Given the description of an element on the screen output the (x, y) to click on. 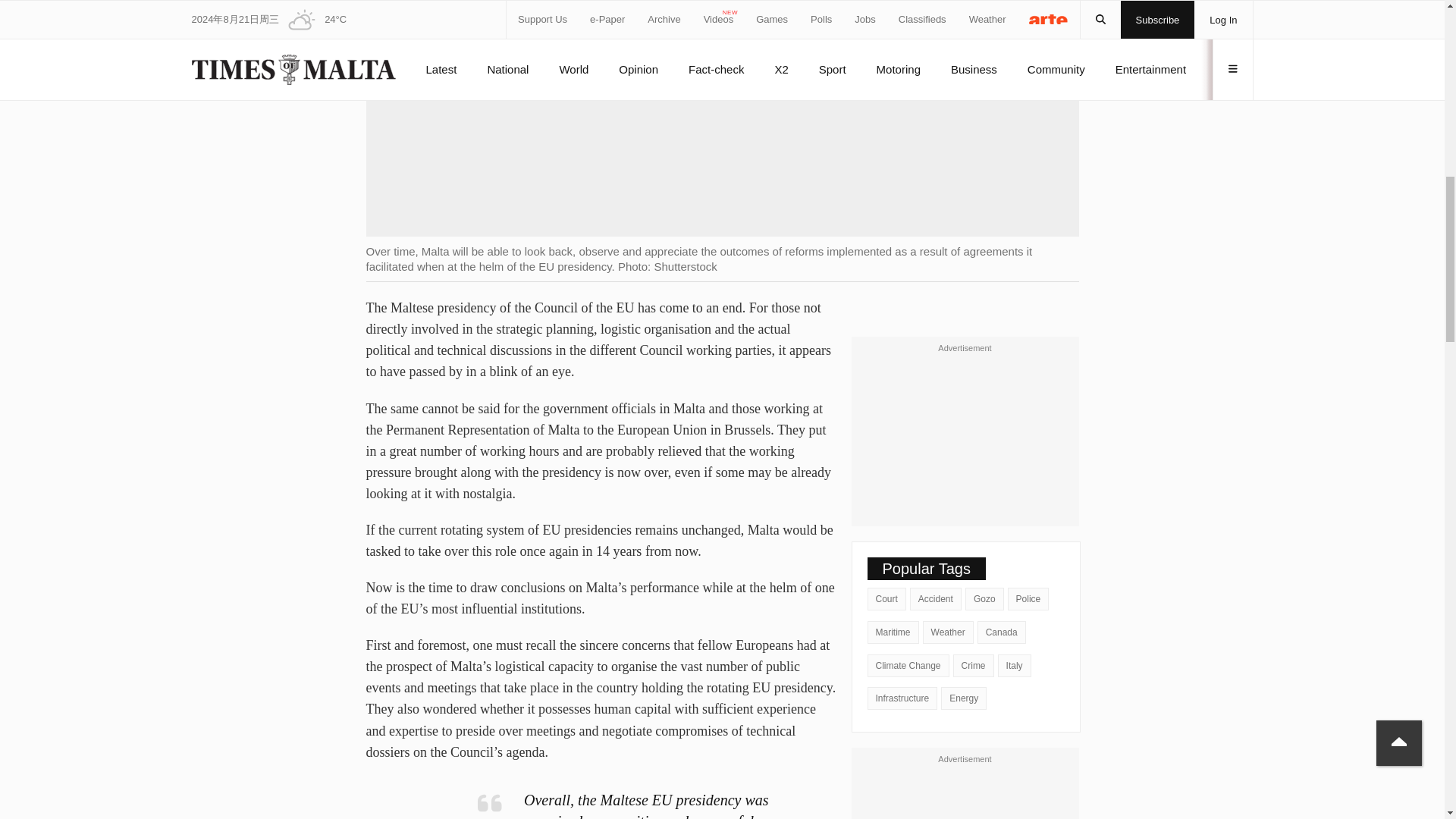
Police (1028, 599)
Court (886, 599)
Gozo (984, 599)
Weather (948, 631)
Maritime (892, 631)
Accident (935, 599)
